Given the description of an element on the screen output the (x, y) to click on. 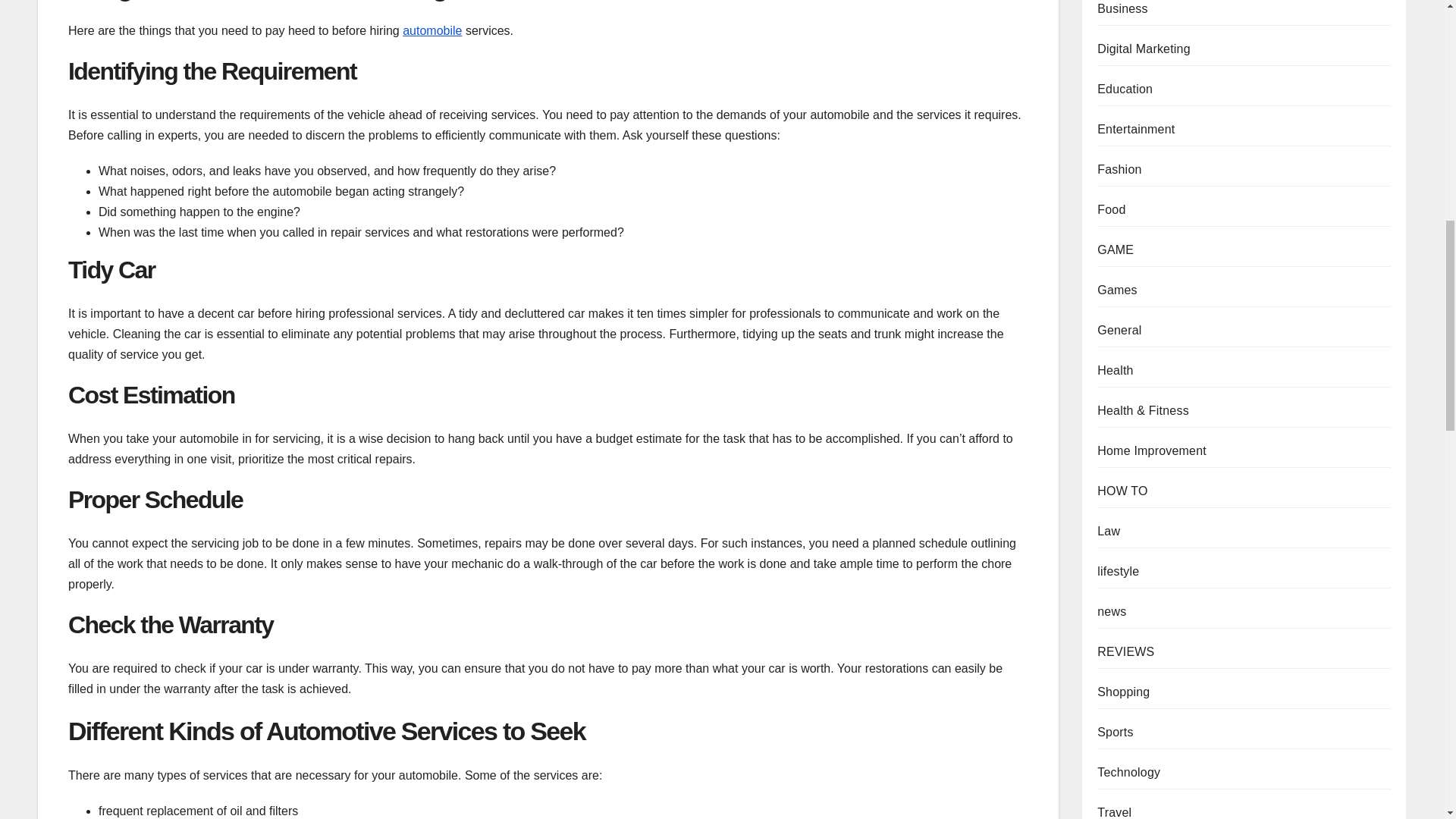
automobile (432, 30)
